Given the description of an element on the screen output the (x, y) to click on. 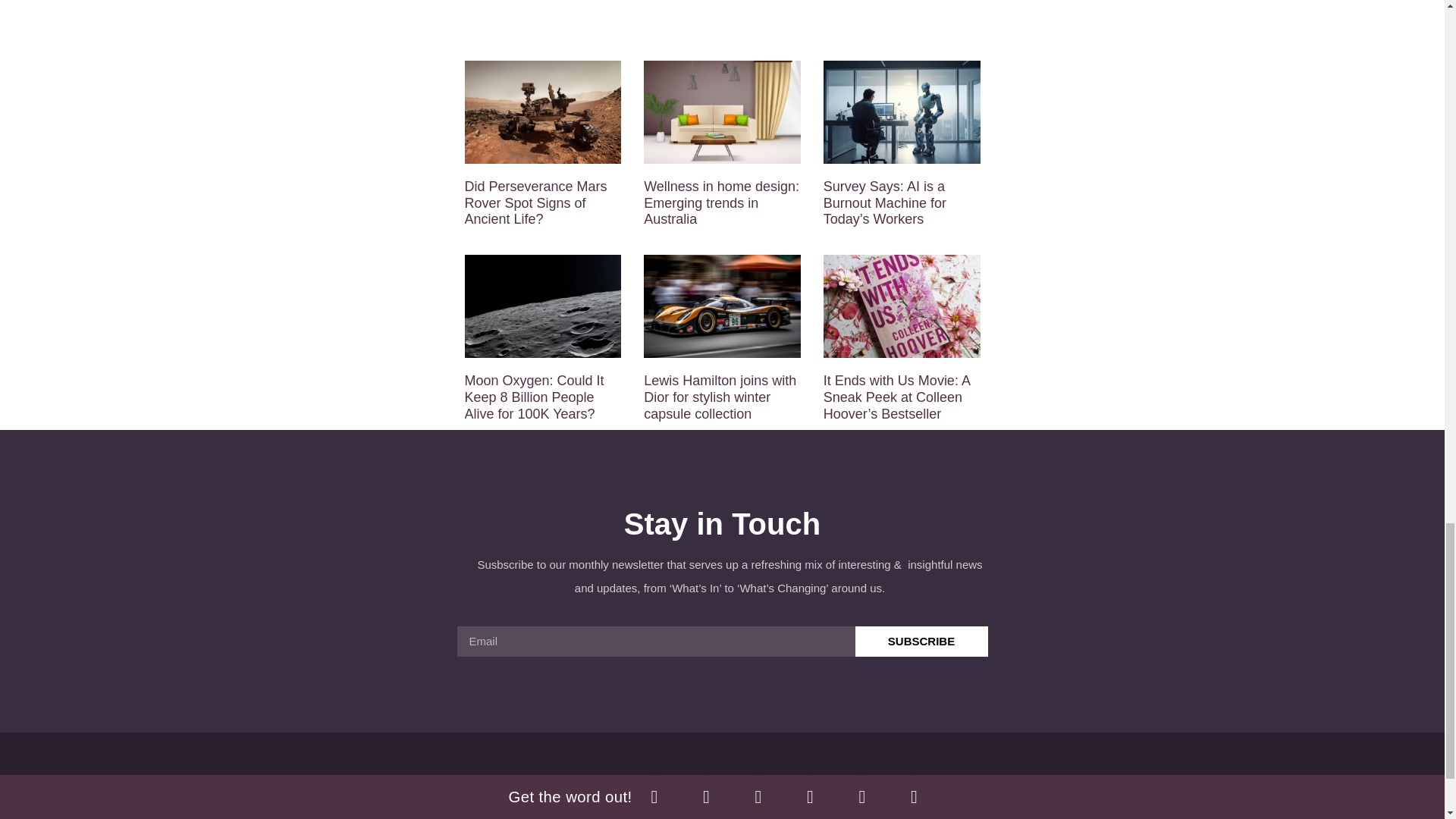
Terms of Use (763, 787)
Wellness in home design: Emerging trends in Australia (721, 202)
About Us (668, 787)
Did Perseverance Mars Rover Spot Signs of Ancient Life? (535, 202)
SUBSCRIBE (922, 641)
